Given the description of an element on the screen output the (x, y) to click on. 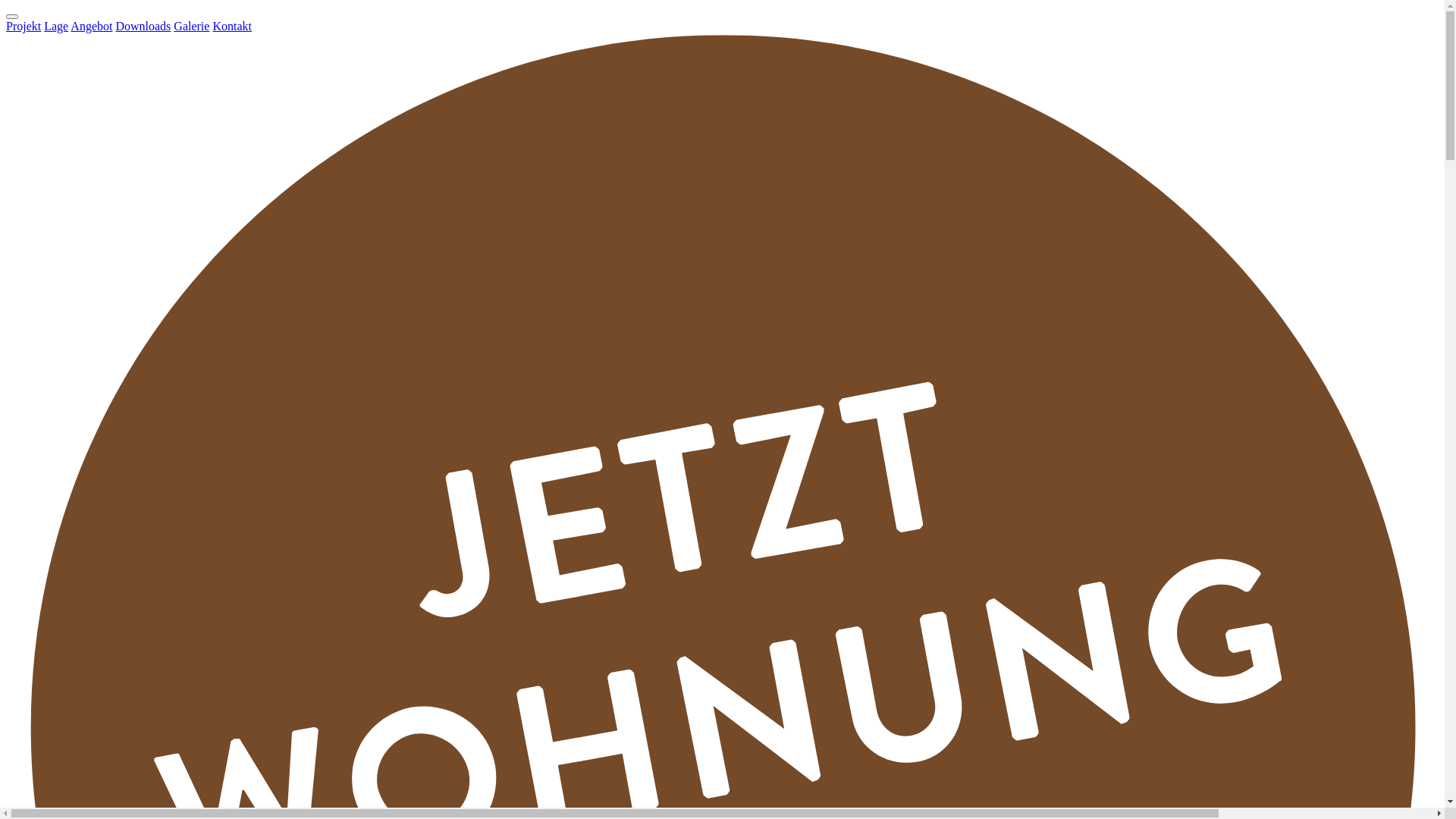
Lage Element type: text (55, 25)
Kontakt Element type: text (231, 25)
Projekt Element type: text (23, 25)
Galerie Element type: text (191, 25)
Angebot Element type: text (91, 25)
Downloads Element type: text (142, 25)
